Given the description of an element on the screen output the (x, y) to click on. 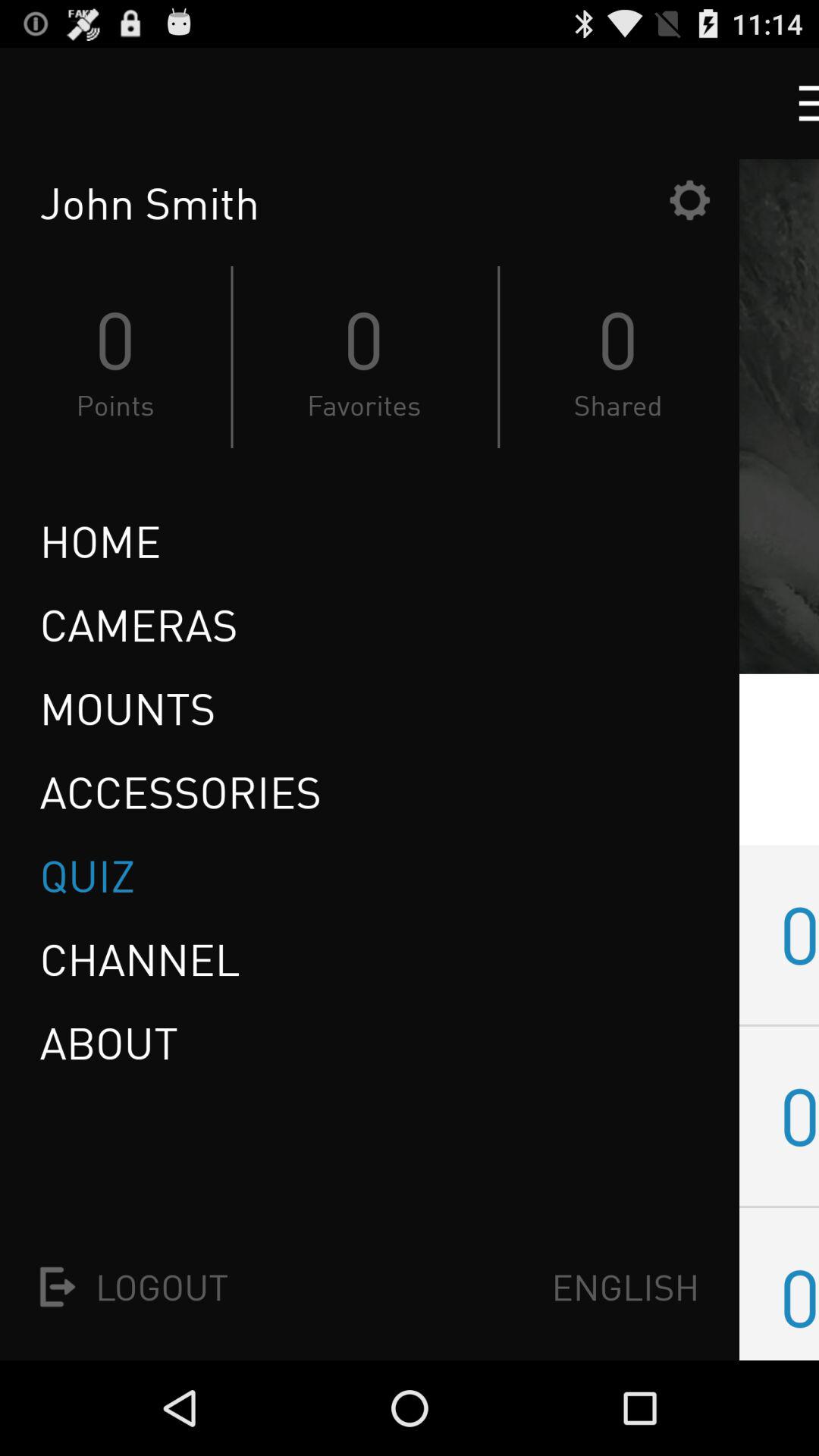
open the mounts icon (127, 708)
